Given the description of an element on the screen output the (x, y) to click on. 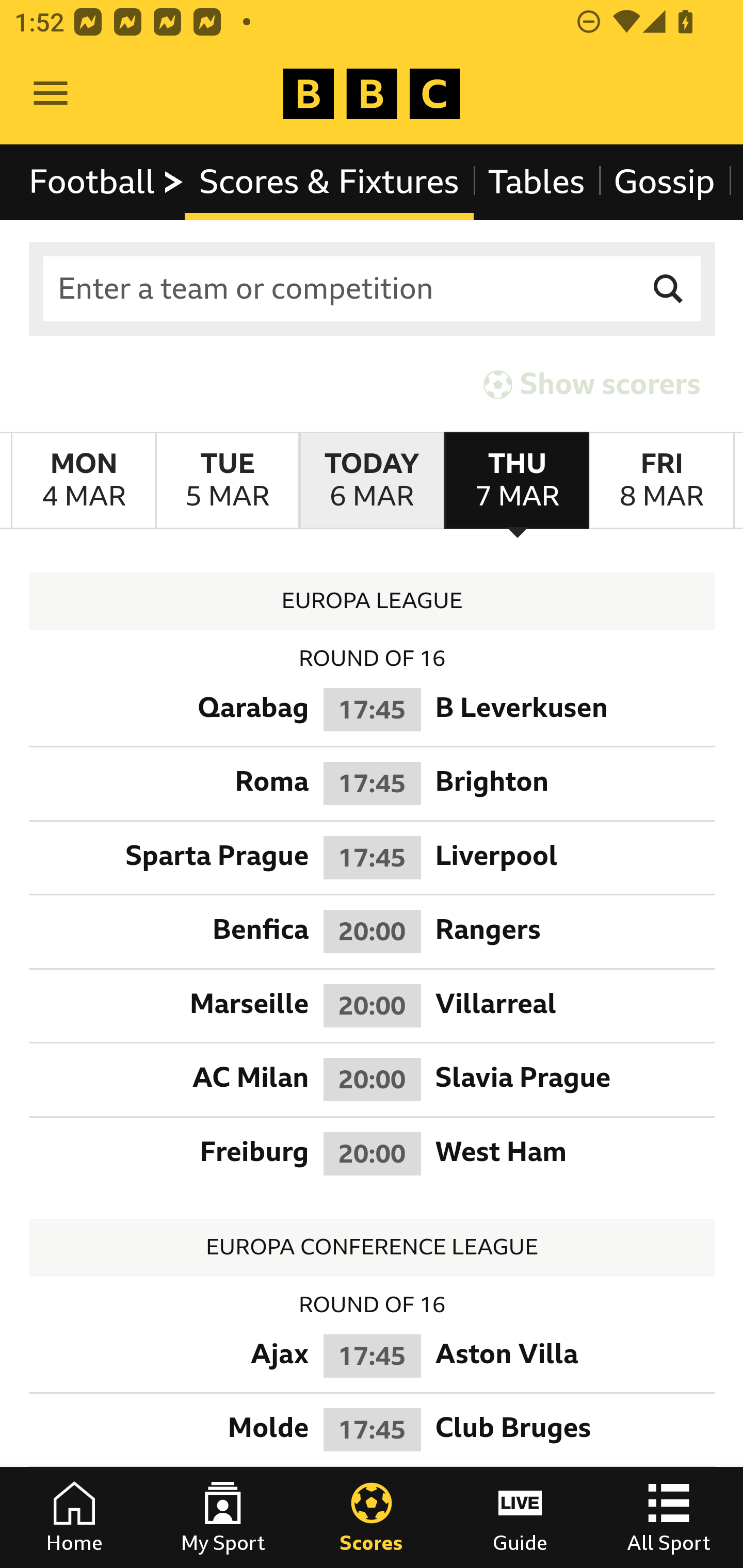
Open Menu (50, 93)
Football  (106, 181)
Scores & Fixtures (329, 181)
Tables (536, 181)
Gossip (664, 181)
Search (669, 289)
Show scorers (591, 383)
MondayMarch 4th Monday March 4th (83, 480)
TuesdayMarch 5th Tuesday March 5th (227, 480)
TodayMarch 6th Today March 6th (371, 480)
FridayMarch 8th Friday March 8th (661, 480)
Home (74, 1517)
My Sport (222, 1517)
Guide (519, 1517)
All Sport (668, 1517)
